Given the description of an element on the screen output the (x, y) to click on. 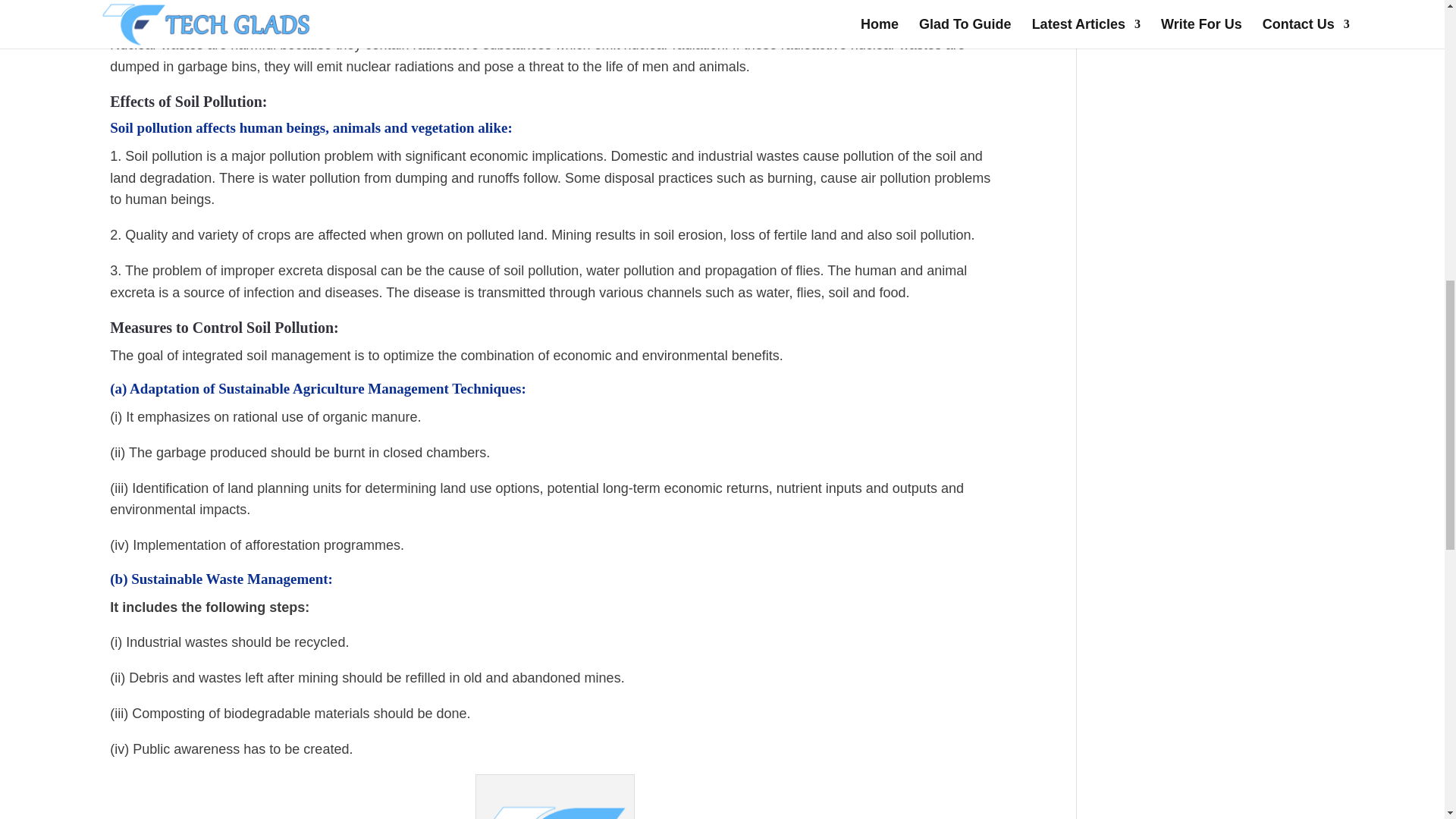
Advertisement (1212, 708)
Advertisement (1236, 24)
